Given the description of an element on the screen output the (x, y) to click on. 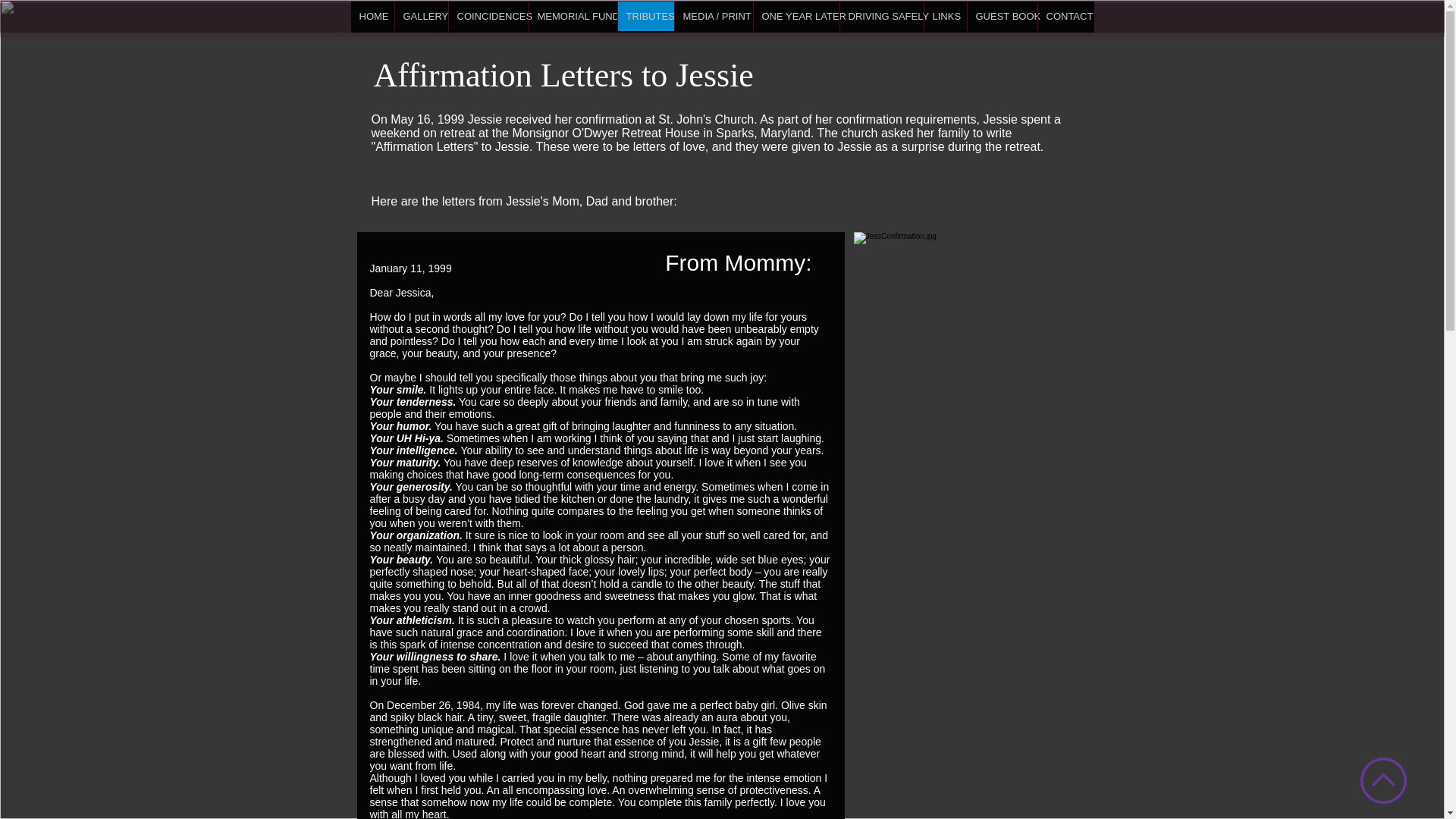
COINCIDENCES (486, 16)
DRIVING SAFELY (880, 16)
ONE YEAR LATER (795, 16)
HOME (371, 16)
GUEST BOOK (1001, 16)
MEMORIAL FUND (571, 16)
CONTACT (1065, 16)
GALLERY (421, 16)
TRIBUTES (645, 16)
LINKS (944, 16)
